Given the description of an element on the screen output the (x, y) to click on. 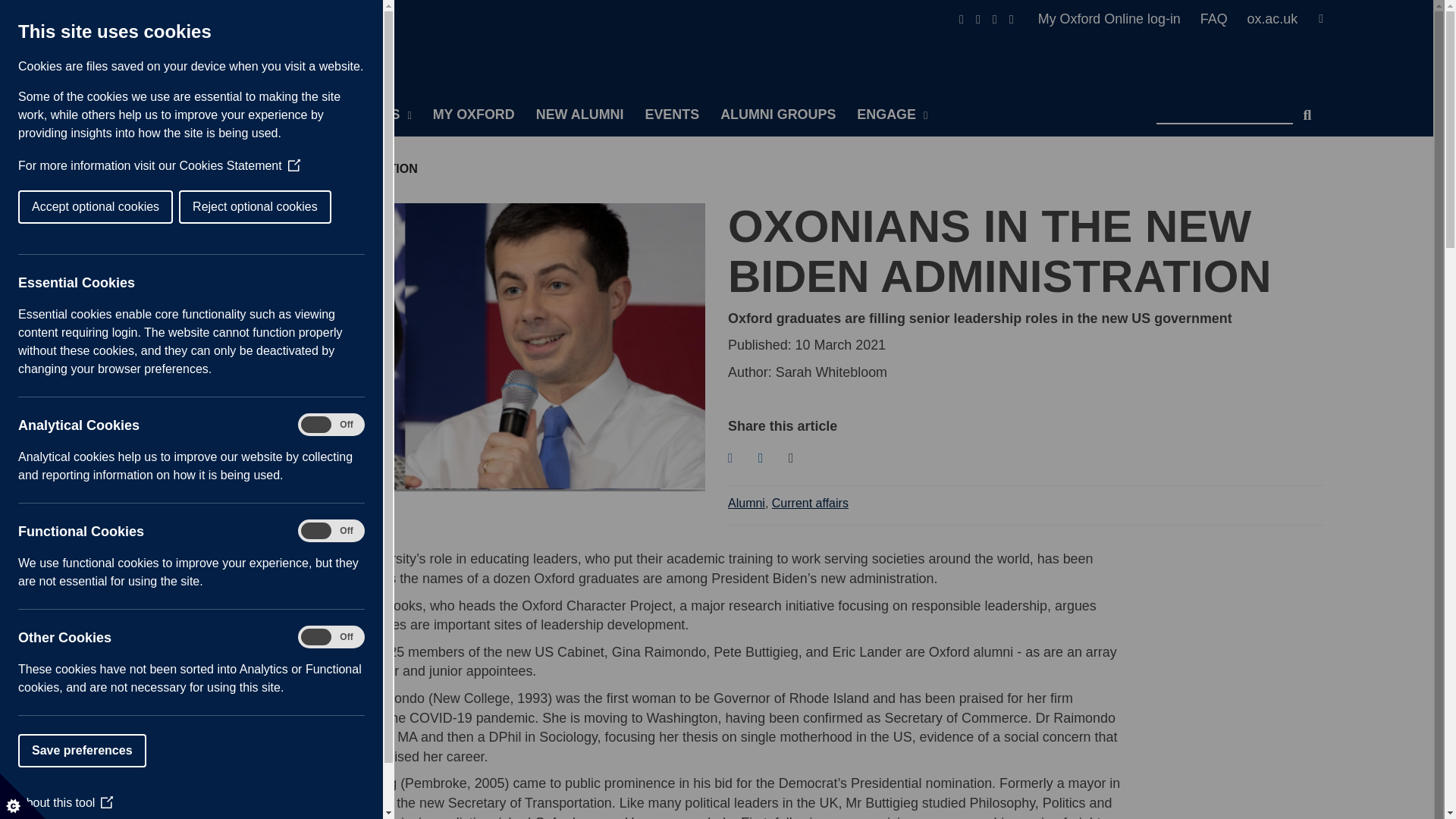
NEW ALUMNI (579, 115)
FAQ (1220, 19)
QUAD NEWS (363, 115)
My Oxford Online log-in (1115, 19)
My Oxford Online log-in (1115, 19)
Search (1307, 109)
ox.ac.uk (1271, 19)
Enter the terms you wish to search for (1224, 109)
FAQ (1220, 19)
Reject optional cookies (48, 206)
